Given the description of an element on the screen output the (x, y) to click on. 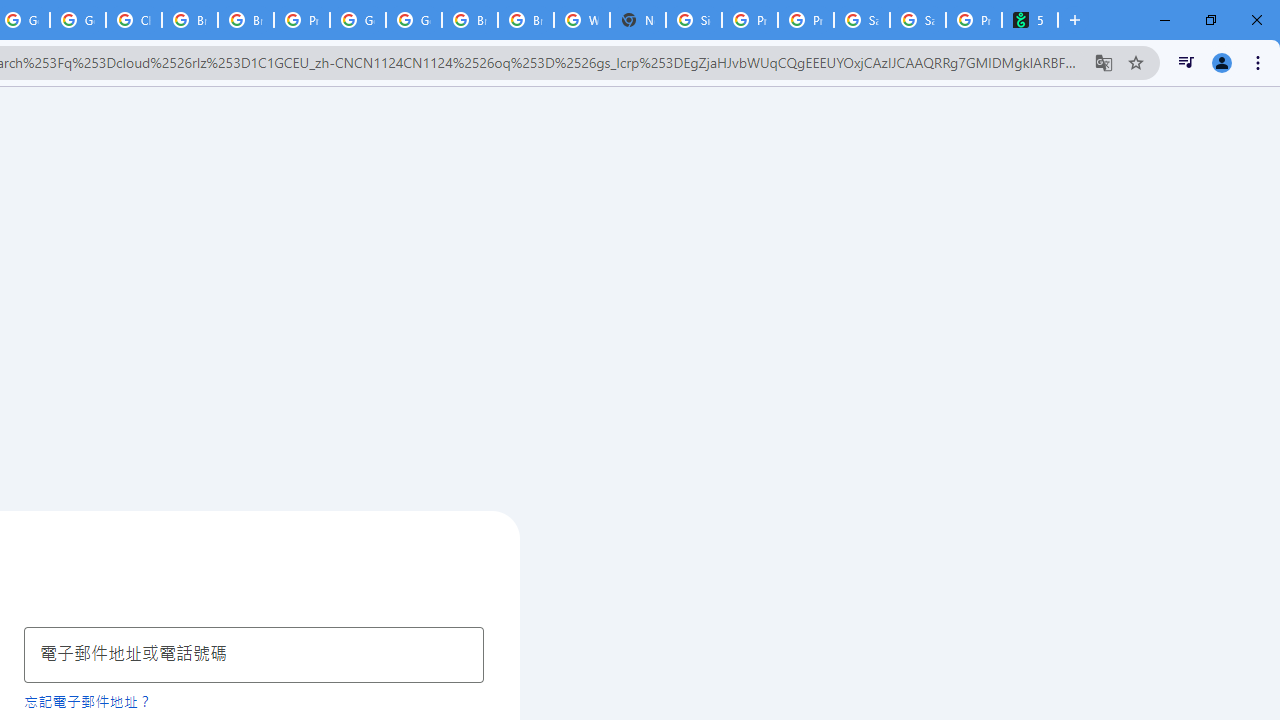
Browse Chrome as a guest - Computer - Google Chrome Help (245, 20)
Browse Chrome as a guest - Computer - Google Chrome Help (189, 20)
Browse Chrome as a guest - Computer - Google Chrome Help (525, 20)
New Tab (637, 20)
Browse Chrome as a guest - Computer - Google Chrome Help (469, 20)
